Given the description of an element on the screen output the (x, y) to click on. 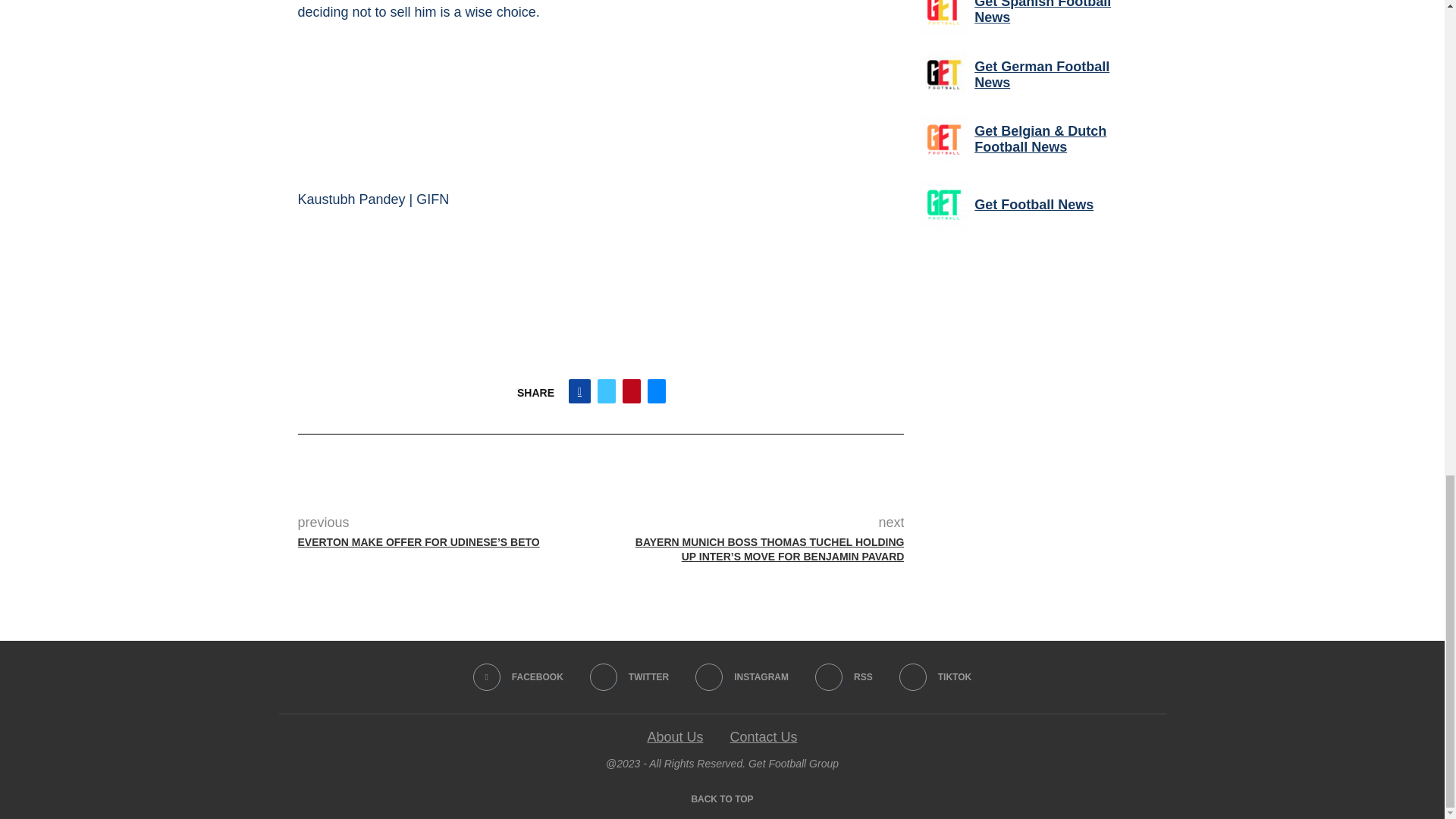
Get Spanish Football News (943, 17)
Get Football News (943, 204)
Get German Football News (943, 74)
